Given the description of an element on the screen output the (x, y) to click on. 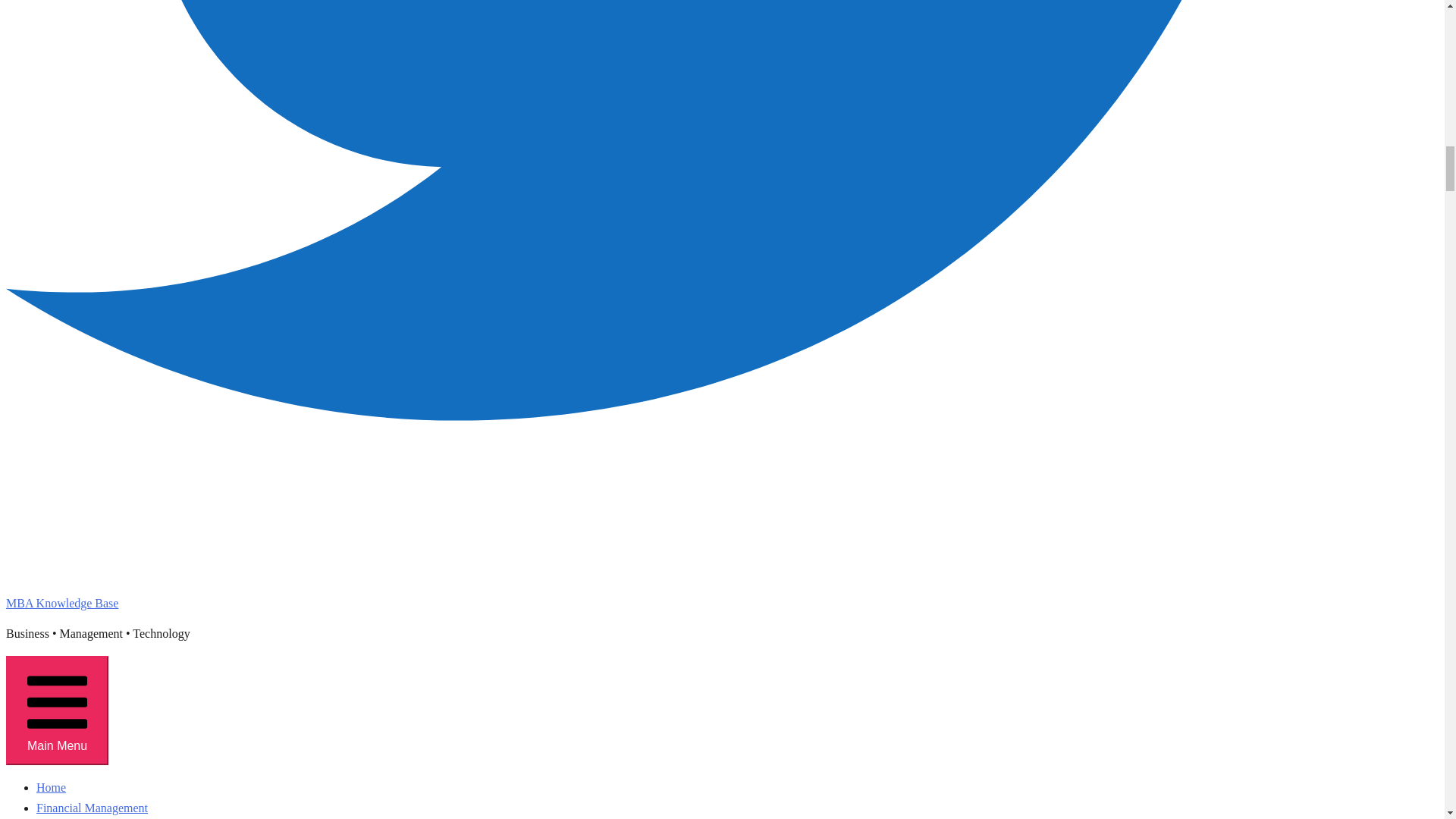
Home (50, 787)
MBA Knowledge Base (61, 603)
Financial Management (92, 807)
Main Menu (56, 710)
Home (50, 787)
